Given the description of an element on the screen output the (x, y) to click on. 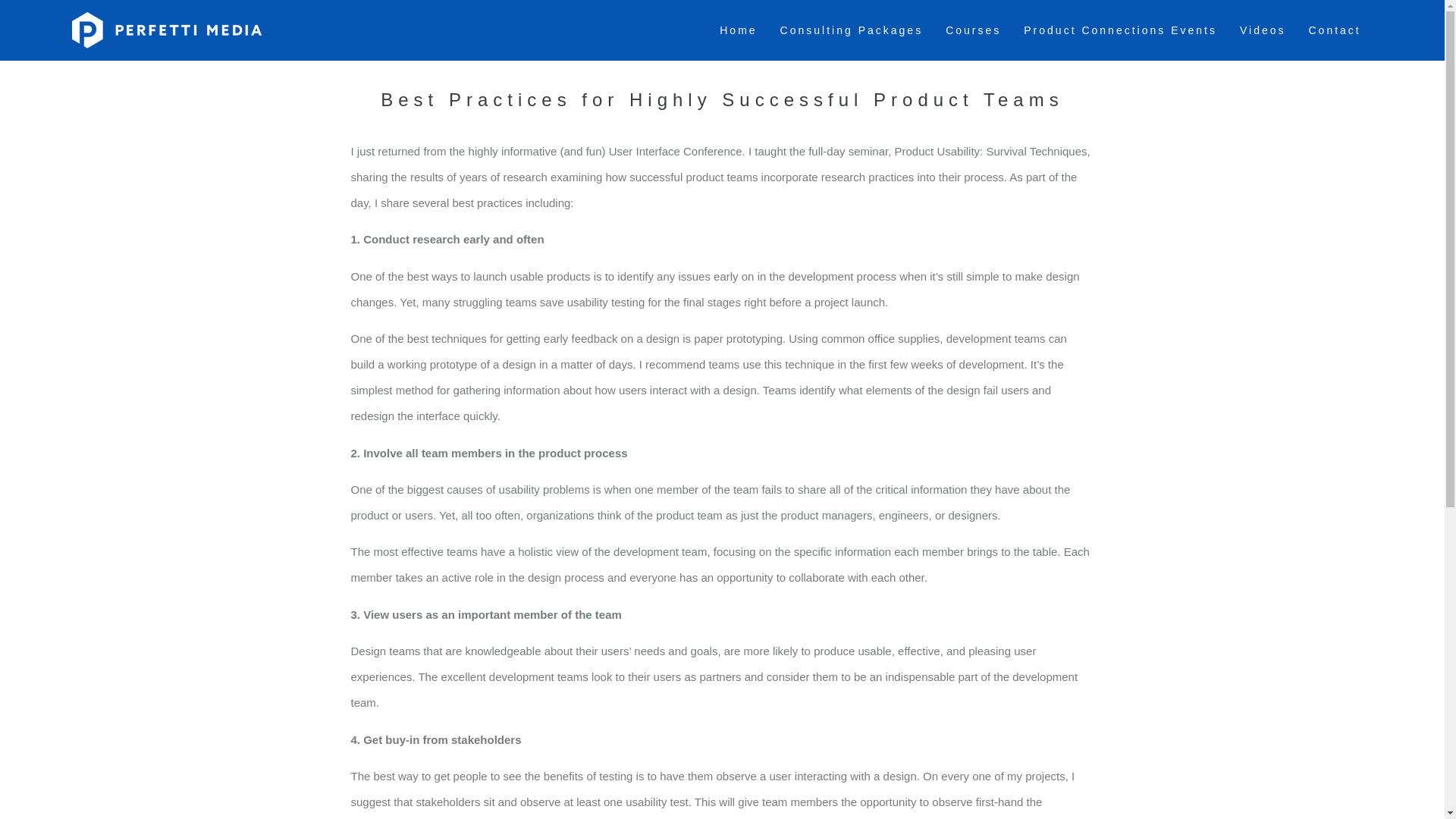
Home (737, 30)
Contact (1334, 30)
Videos (1262, 30)
Product Connections Events (1119, 30)
Courses (972, 30)
Consulting Packages (851, 30)
